Given the description of an element on the screen output the (x, y) to click on. 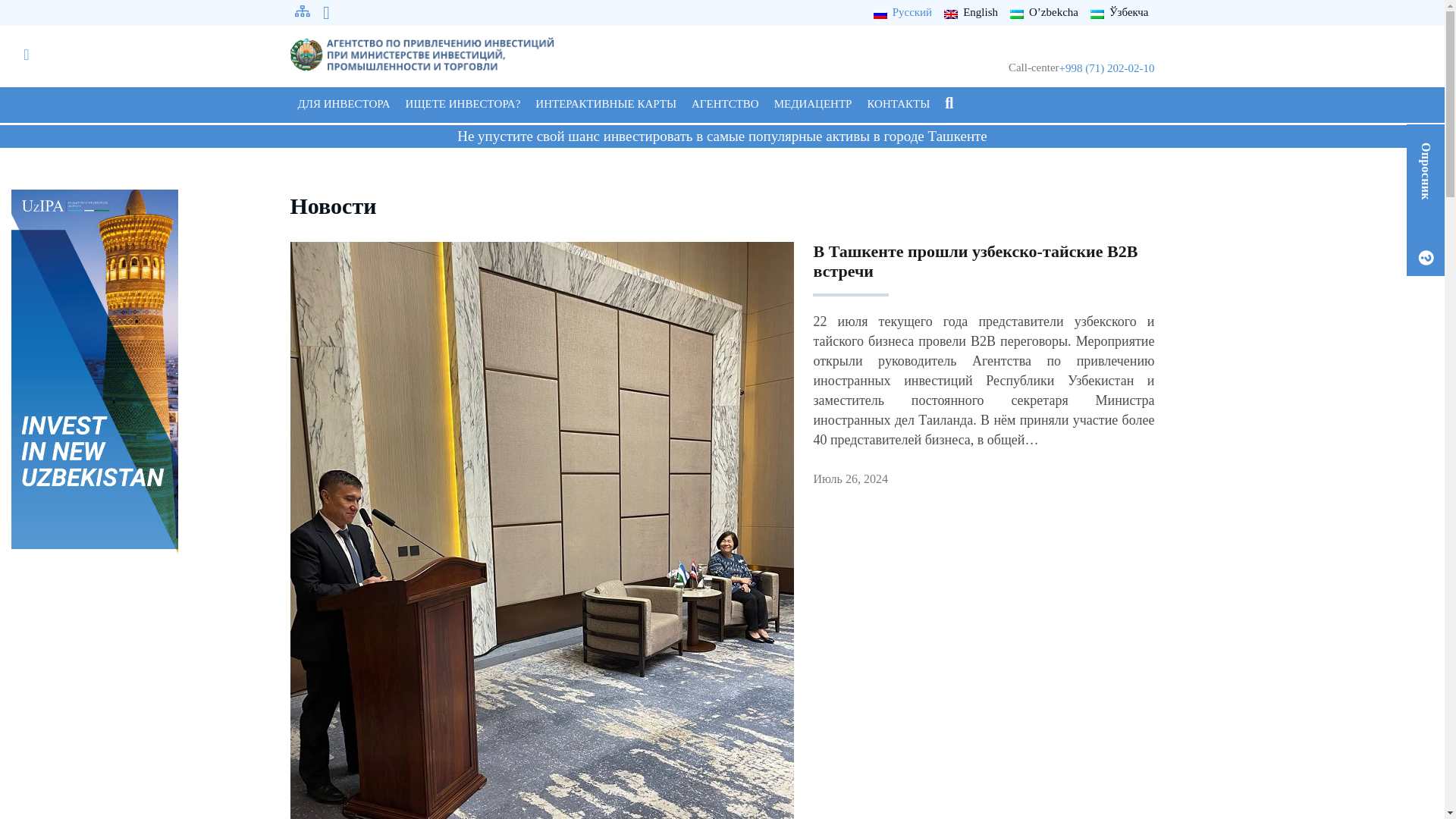
English (970, 11)
